Given the description of an element on the screen output the (x, y) to click on. 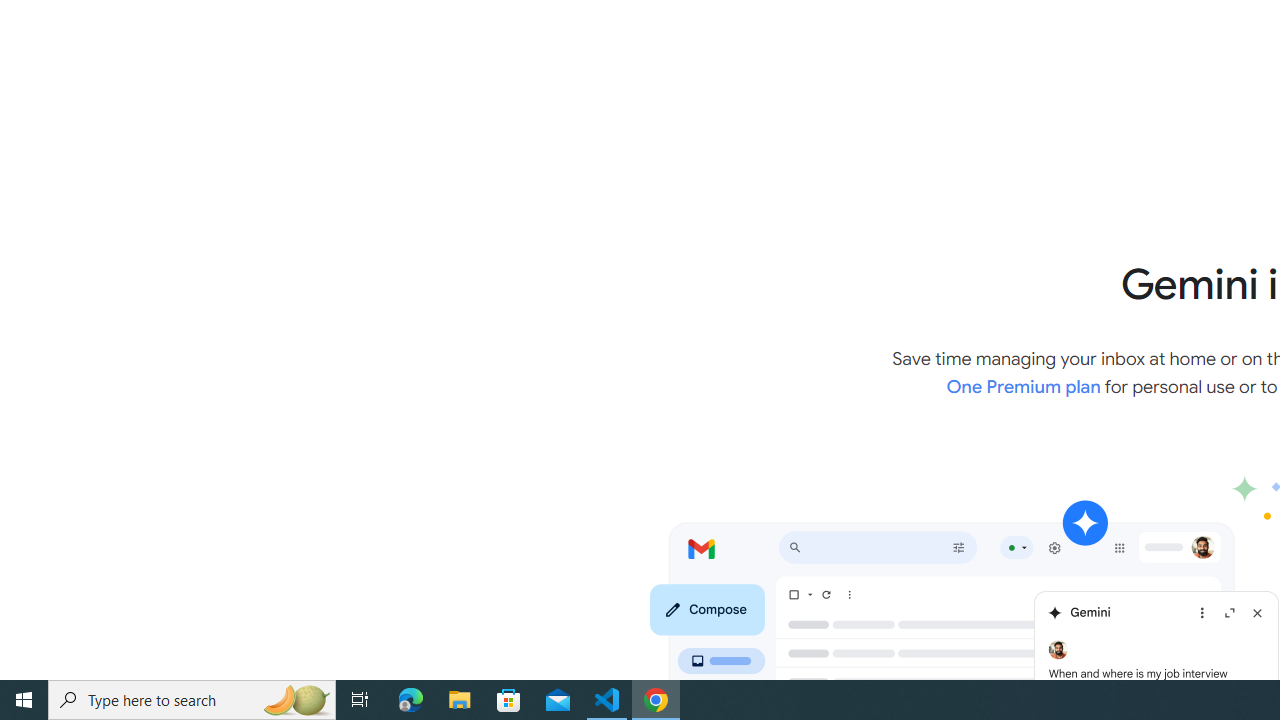
Search highlights icon opens search home window (295, 699)
Task View (359, 699)
Type here to search (191, 699)
Microsoft Edge (411, 699)
Microsoft Store (509, 699)
Visual Studio Code - 1 running window (607, 699)
Google Chrome - 1 running window (656, 699)
Start (24, 699)
File Explorer (460, 699)
